Given the description of an element on the screen output the (x, y) to click on. 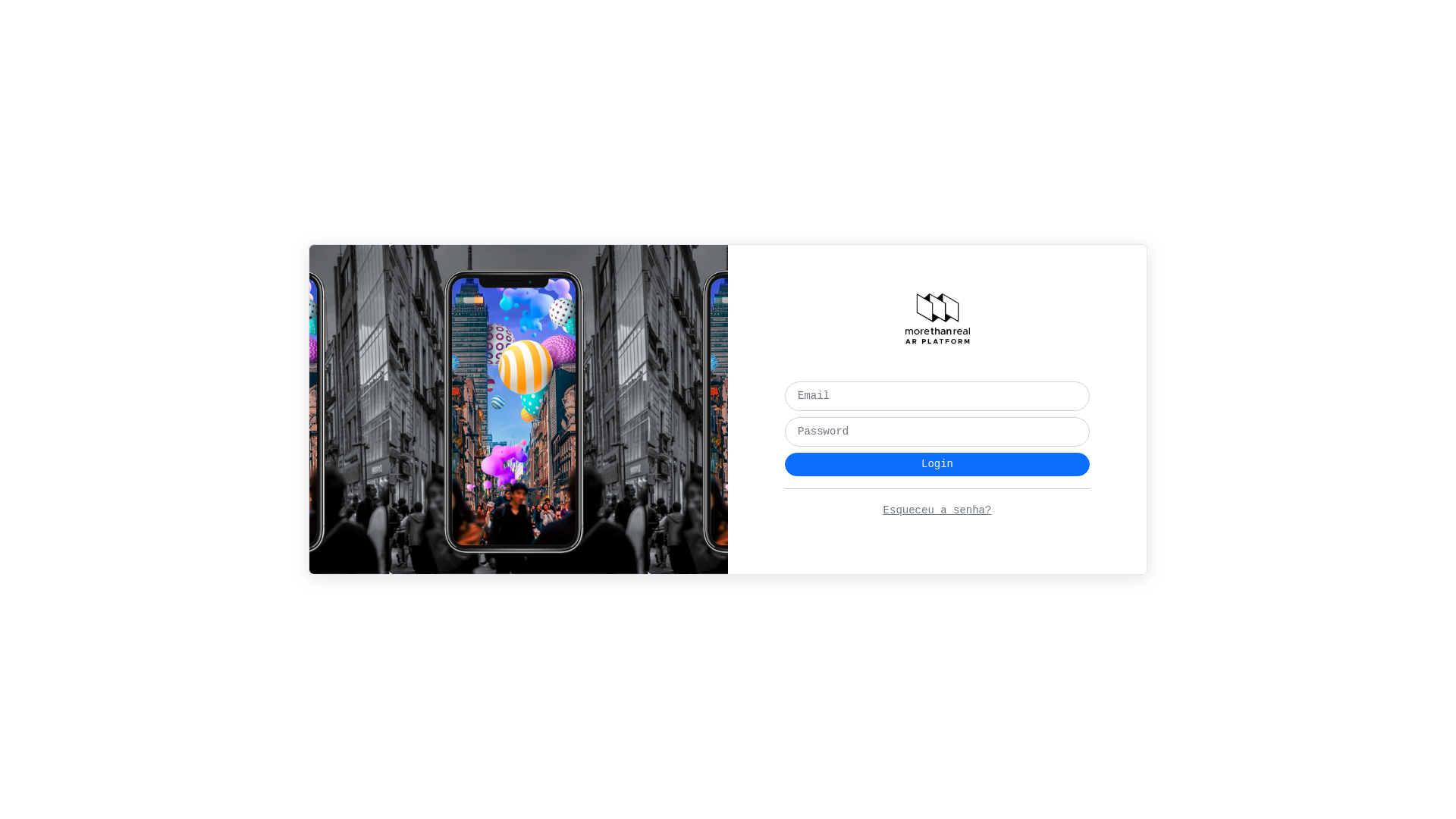
Esqueceu a senha? Element type: text (937, 510)
Login Element type: text (936, 464)
